Given the description of an element on the screen output the (x, y) to click on. 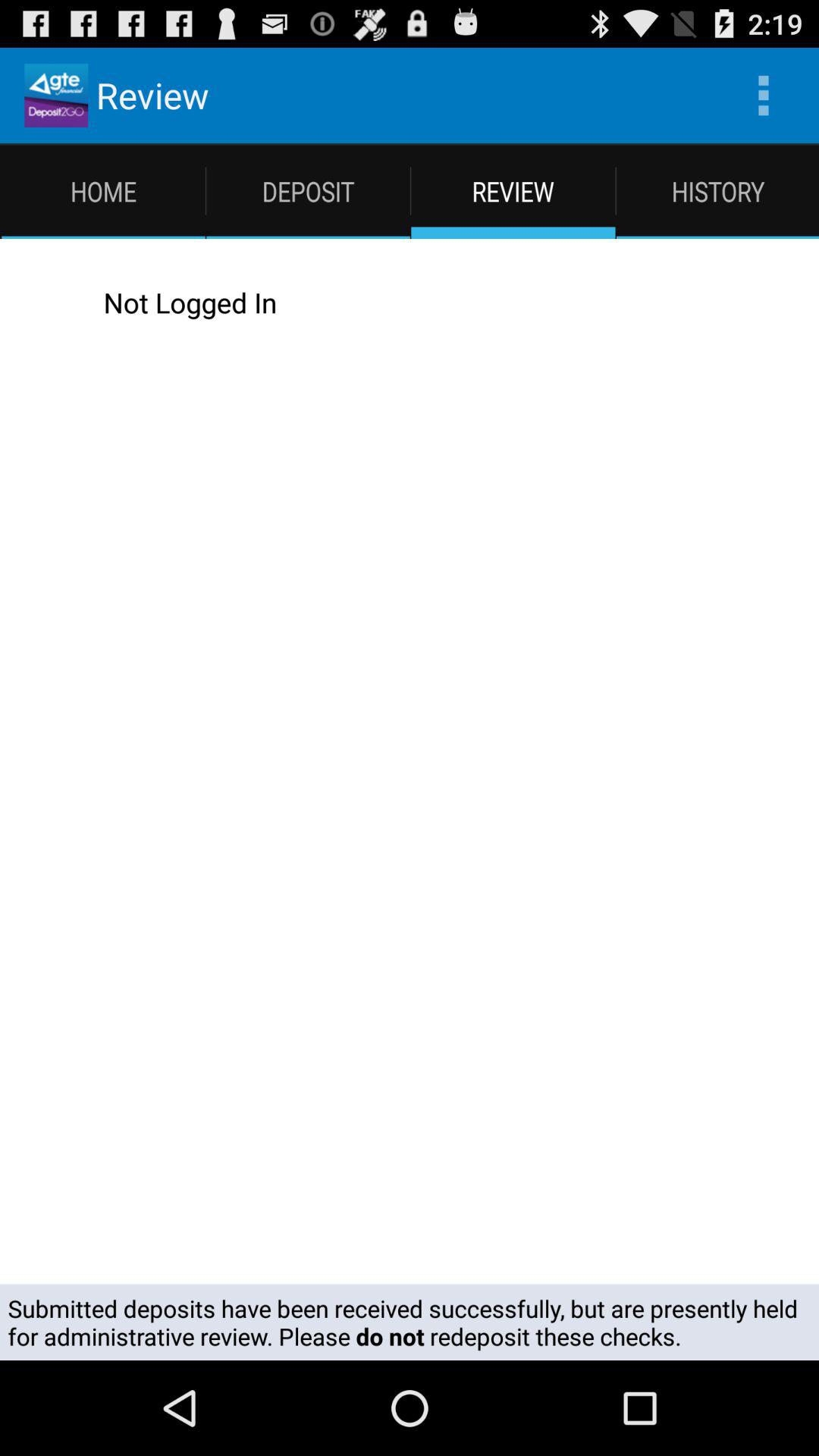
click icon next to the not logged in icon (41, 302)
